Given the description of an element on the screen output the (x, y) to click on. 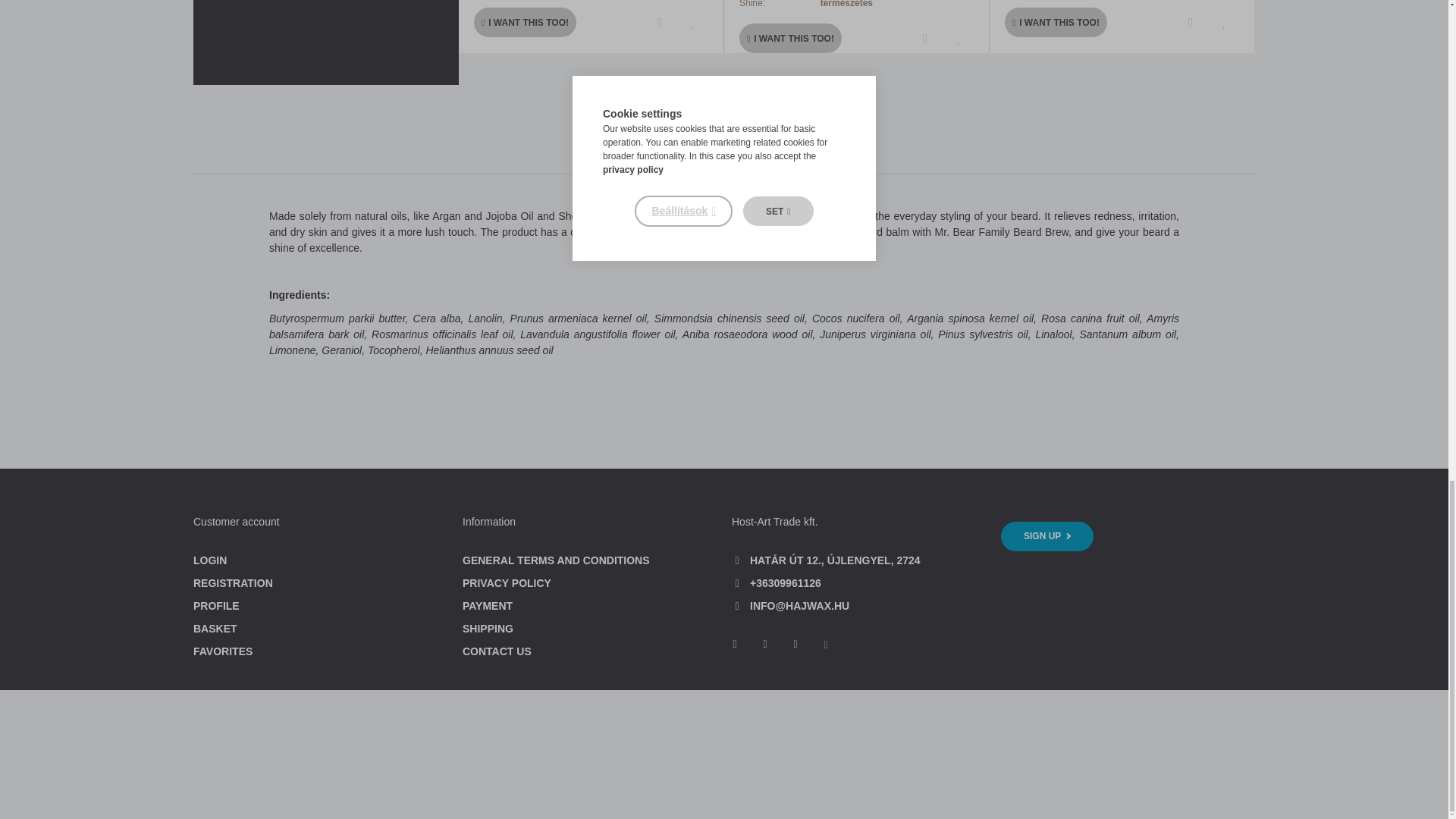
Tiktok (734, 644)
Facebook (764, 644)
Instagram (795, 644)
